Given the description of an element on the screen output the (x, y) to click on. 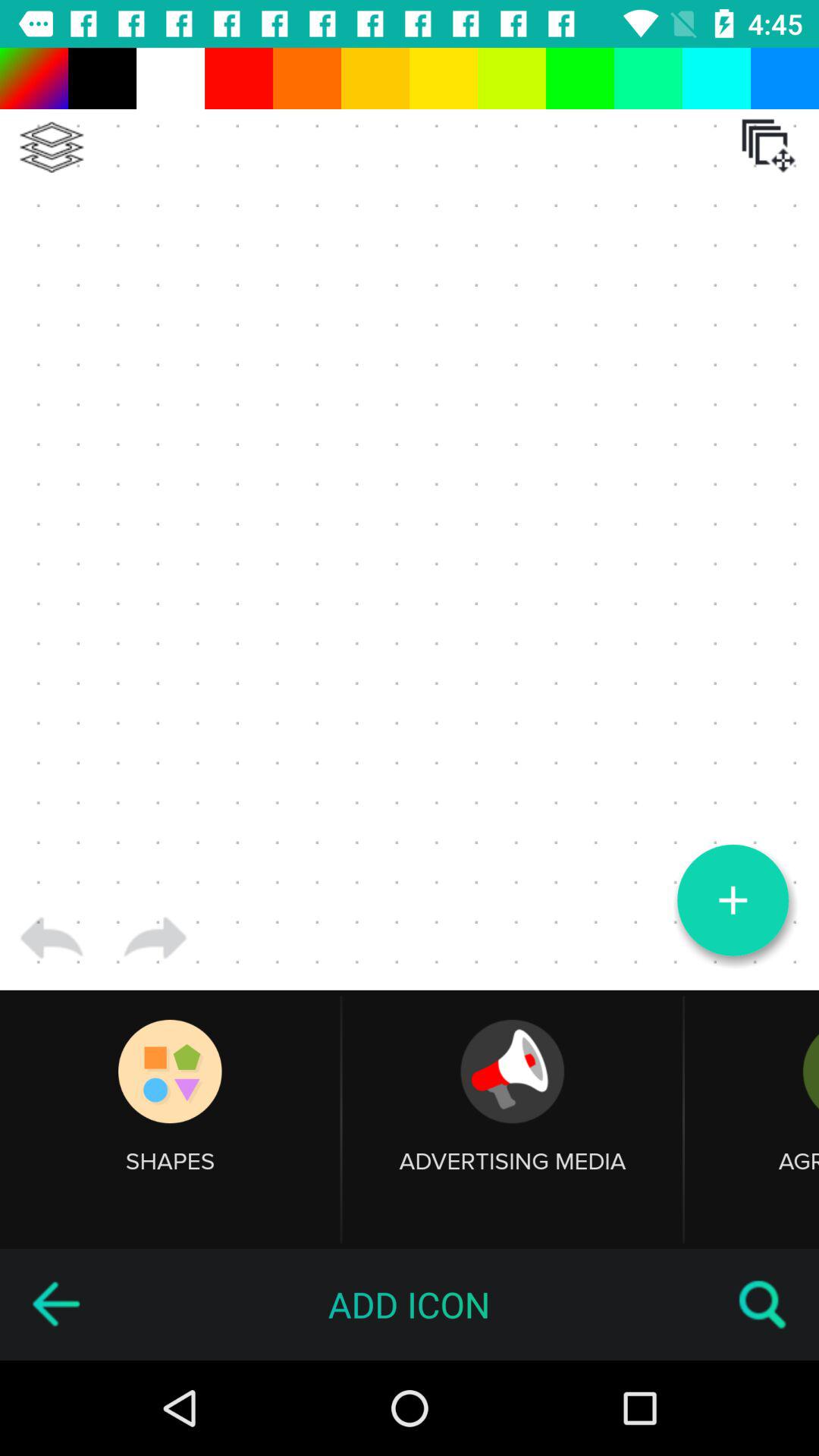
select the item next to add icon icon (763, 1304)
